Given the description of an element on the screen output the (x, y) to click on. 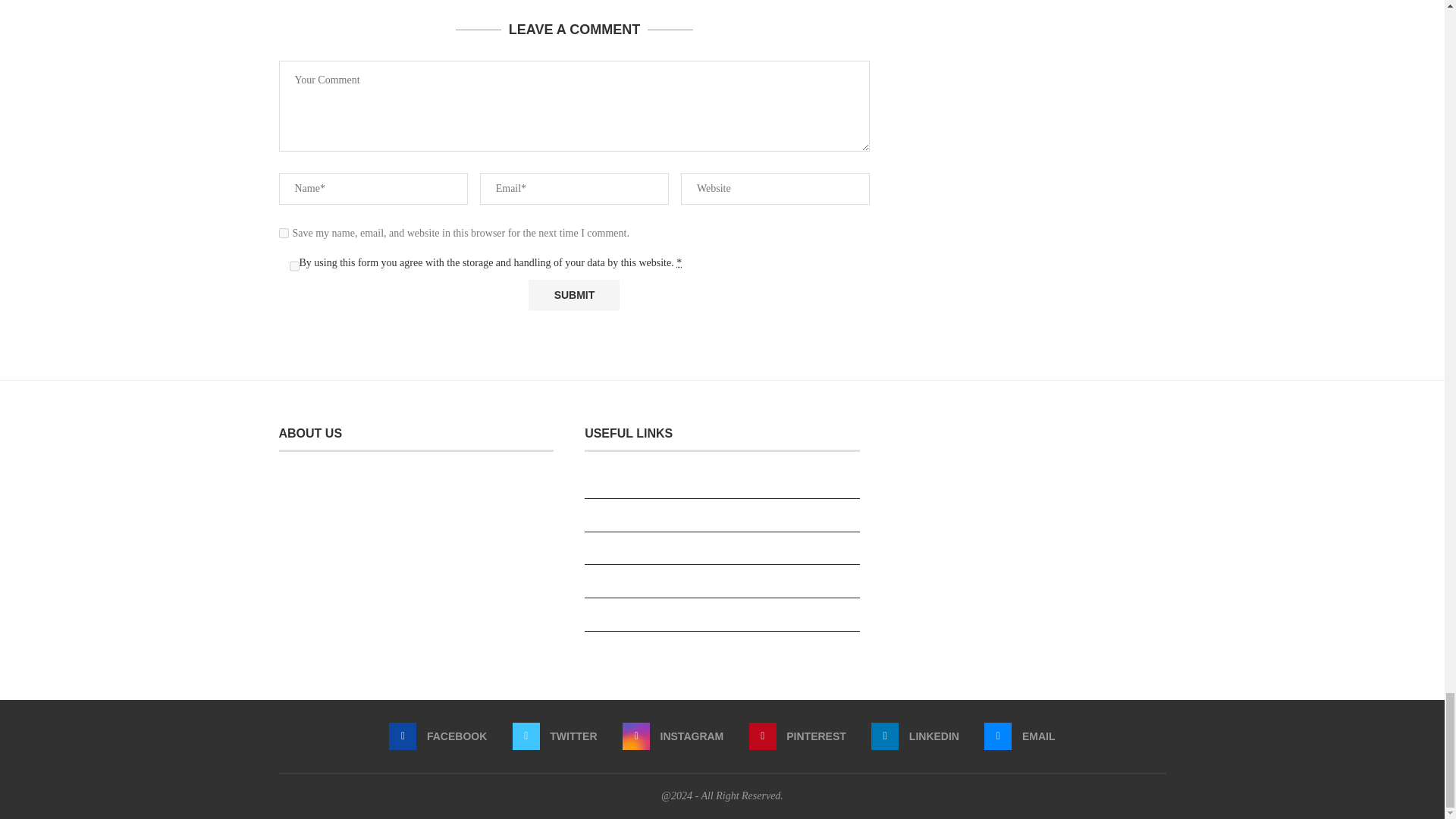
Submit (574, 295)
yes (283, 233)
